Given the description of an element on the screen output the (x, y) to click on. 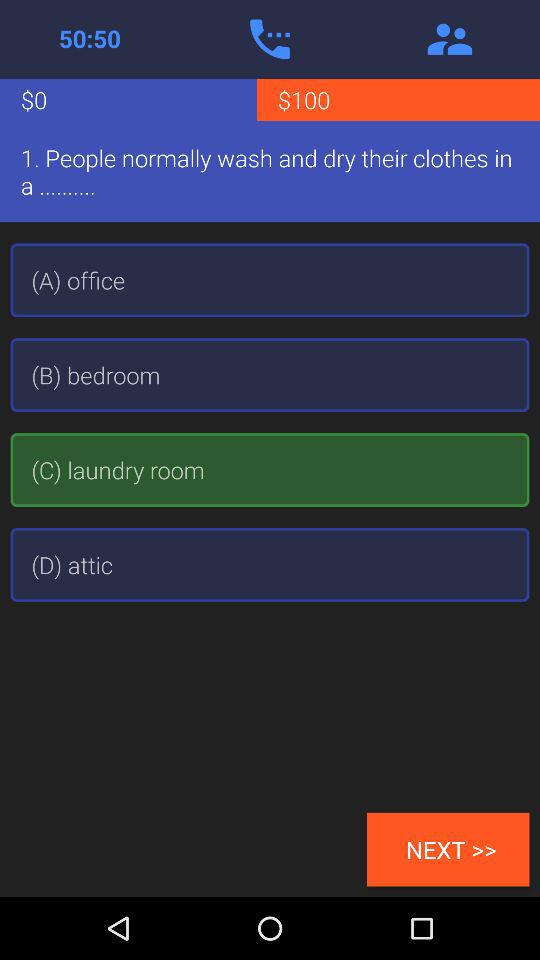
click the item below the (c) laundry room app (269, 564)
